Given the description of an element on the screen output the (x, y) to click on. 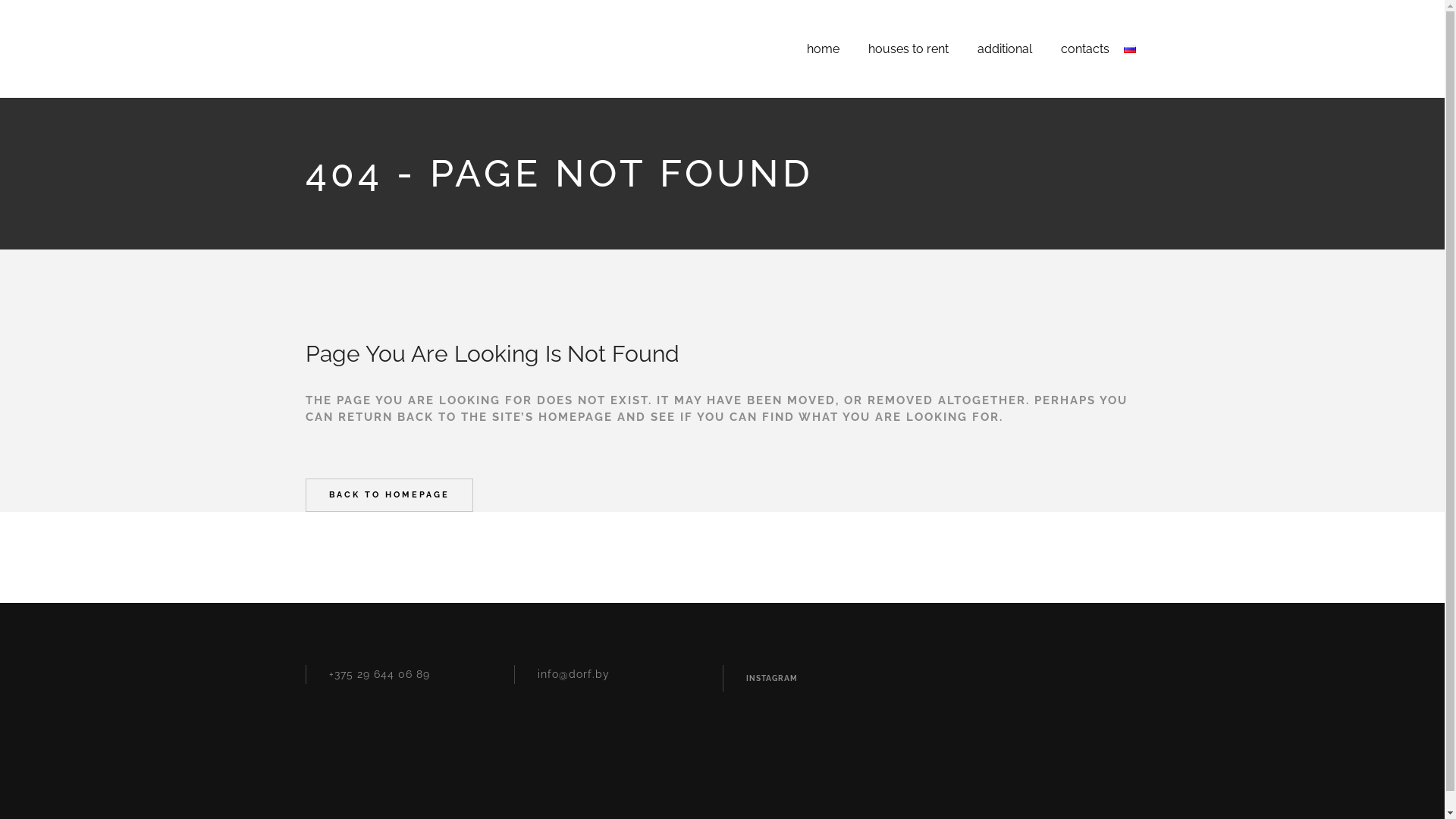
home Element type: text (822, 48)
contacts Element type: text (1084, 48)
BACK TO HOMEPAGE Element type: text (388, 494)
additional Element type: text (1004, 48)
houses to rent Element type: text (908, 48)
INSTAGRAM Element type: text (771, 678)
